Given the description of an element on the screen output the (x, y) to click on. 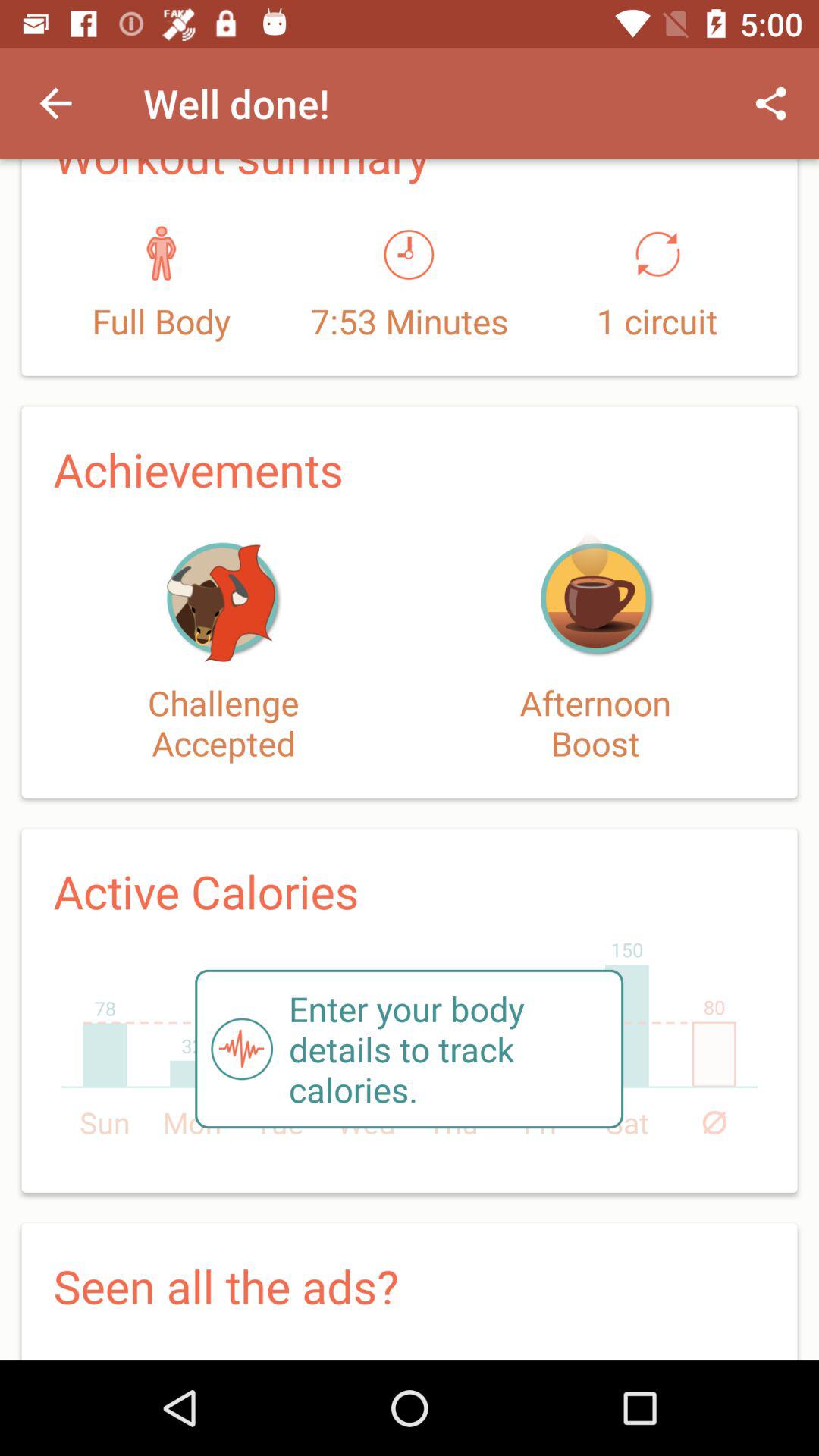
open icon next to well done! (55, 103)
